Given the description of an element on the screen output the (x, y) to click on. 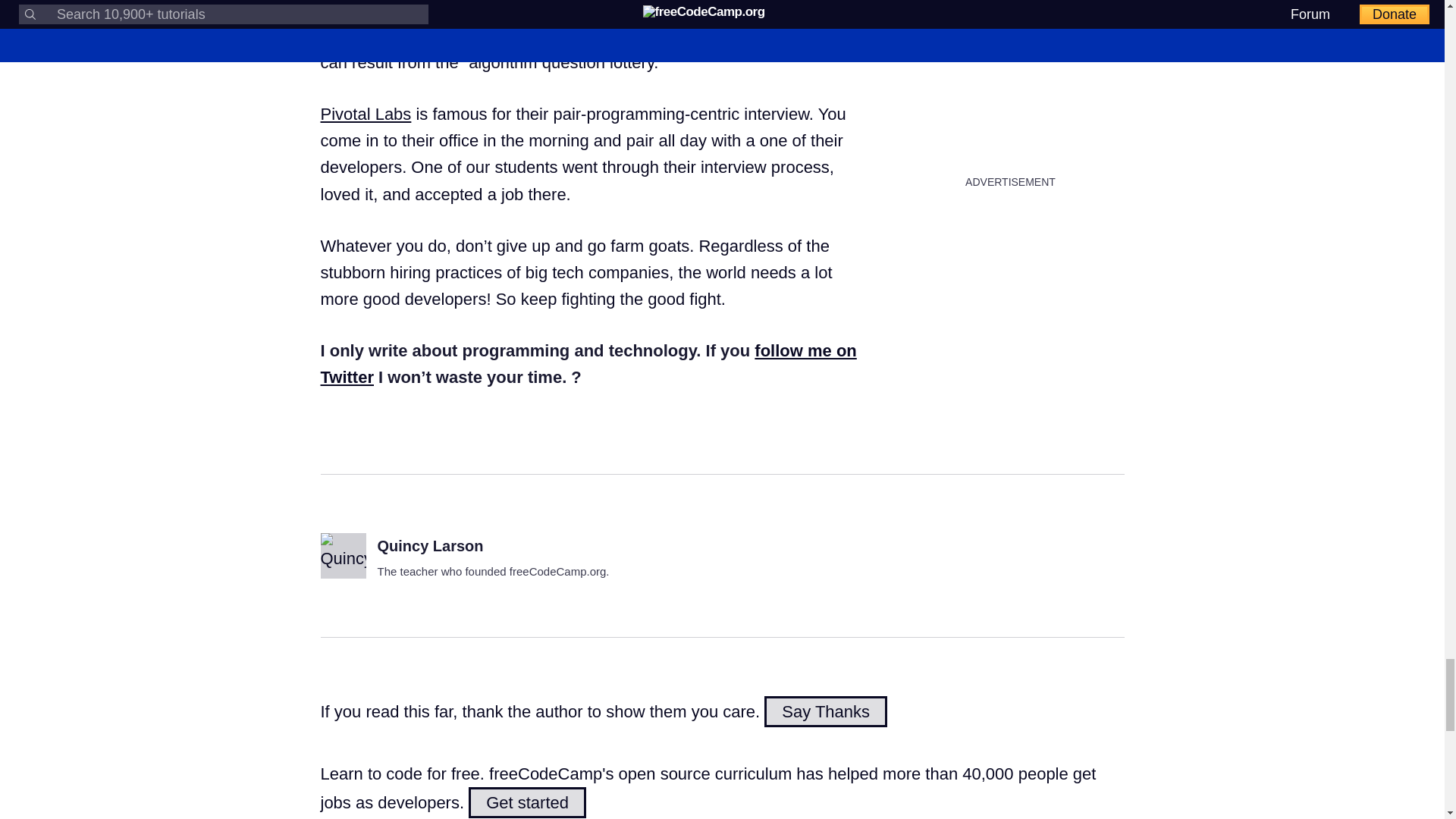
Pivotal Labs (365, 113)
Get started (527, 802)
follow me on Twitter (588, 363)
Quincy Larson (430, 545)
Say Thanks (825, 711)
